Given the description of an element on the screen output the (x, y) to click on. 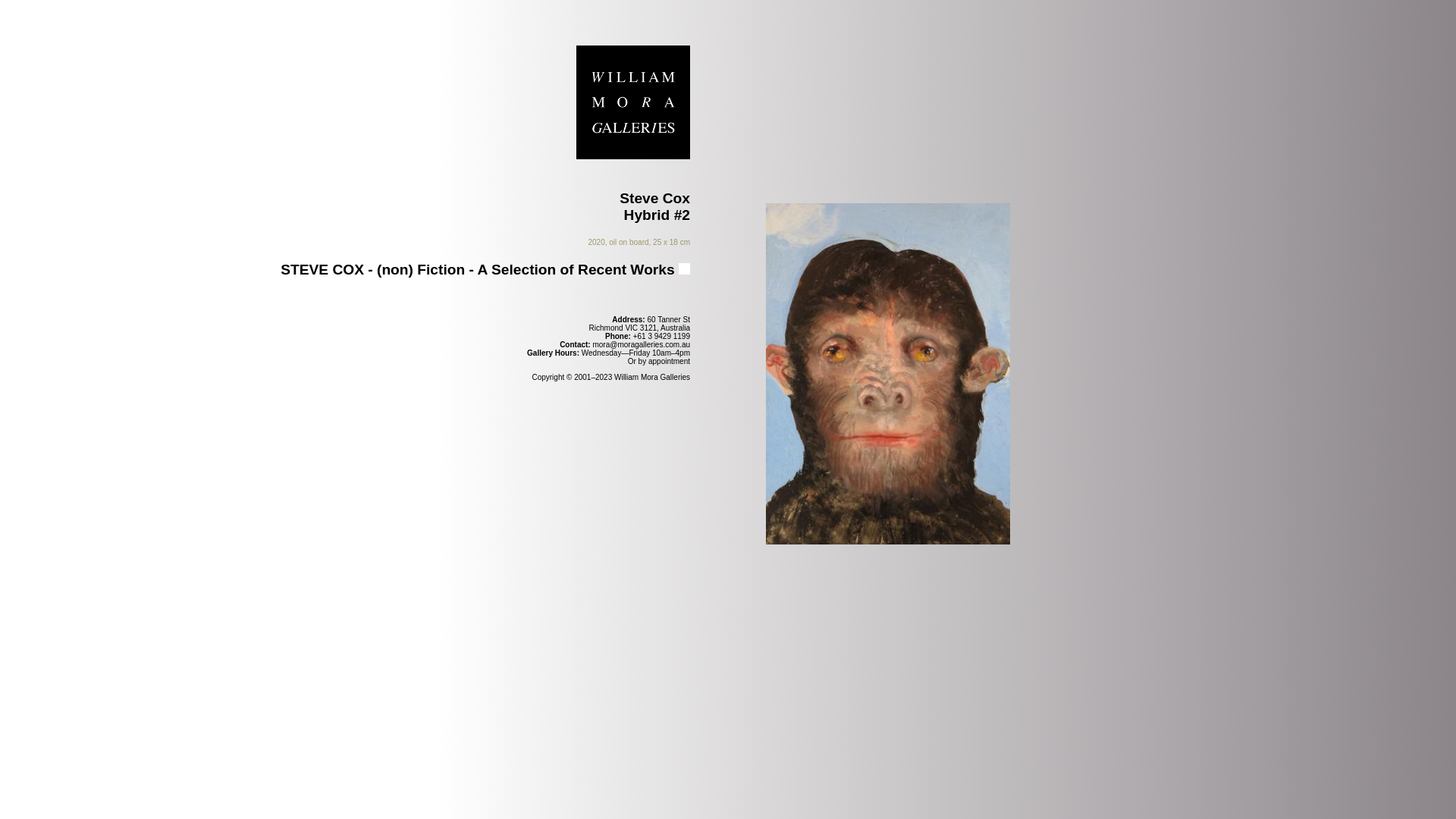
+61 3 9429 1199 Element type: text (661, 336)
mora@moragalleries.com.au Element type: text (641, 344)
STEVE COX - (non) Fiction - A Selection of Recent Works Element type: text (485, 269)
